Given the description of an element on the screen output the (x, y) to click on. 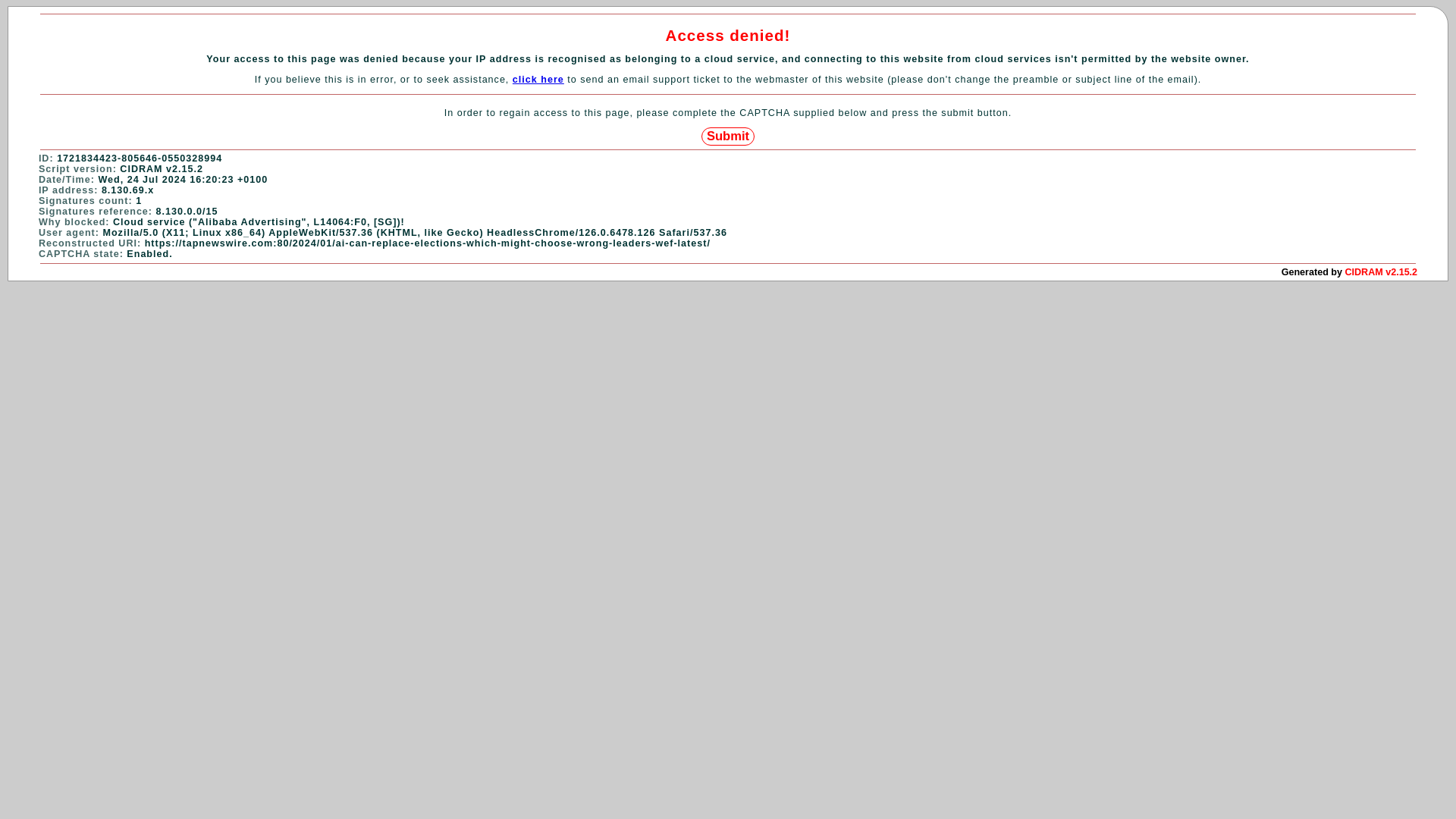
Submit (727, 136)
click here (538, 79)
Submit (727, 136)
